Given the description of an element on the screen output the (x, y) to click on. 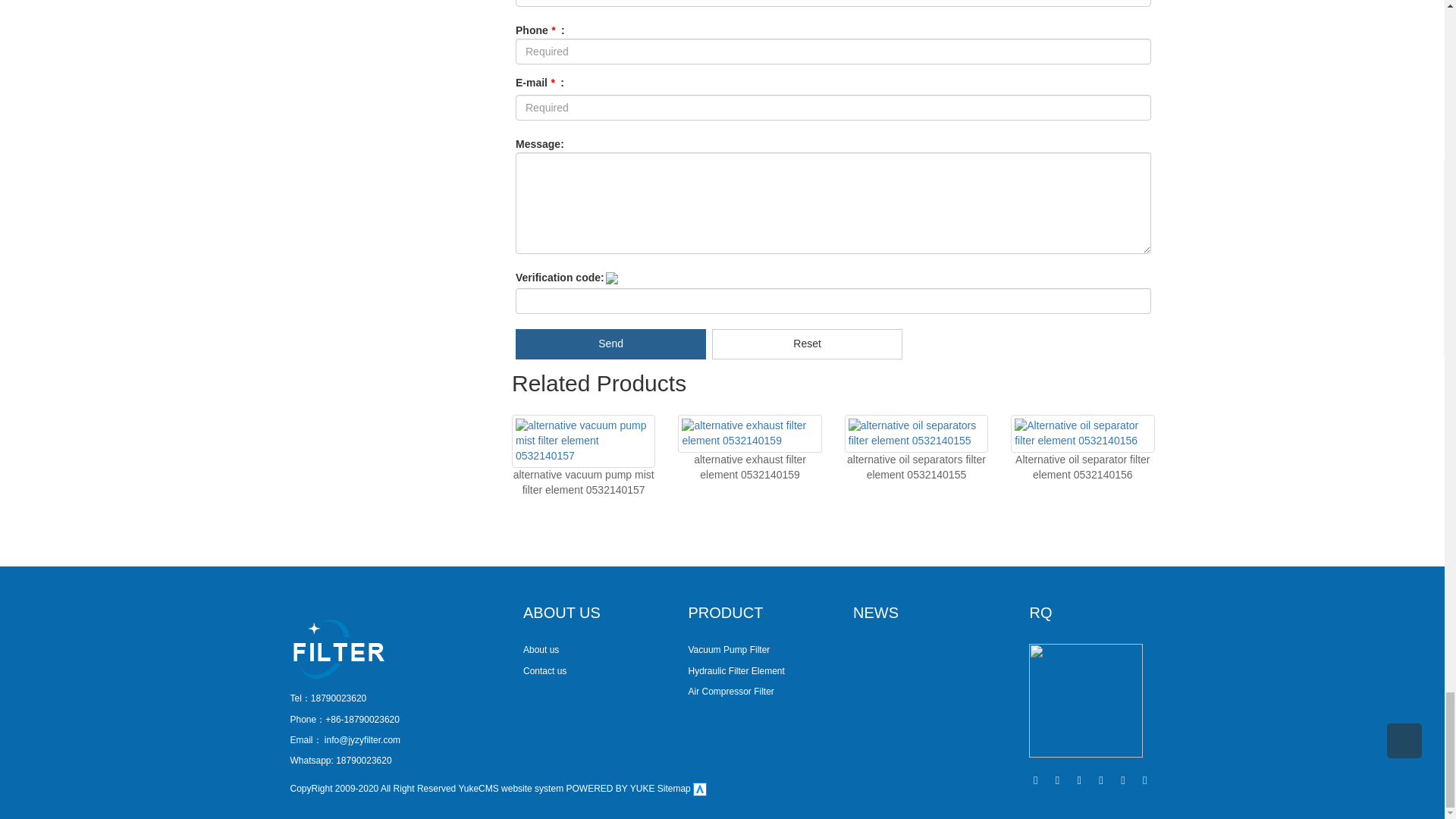
 alternative oil separators filter element 0532140155 (916, 466)
 alternative exhaust  filter element 0532140159 (750, 466)
Alternative oil separator  filter element 0532140156 (1082, 466)
 alternative vacuum pump mist  filter element  0532140157 (583, 482)
